Given the description of an element on the screen output the (x, y) to click on. 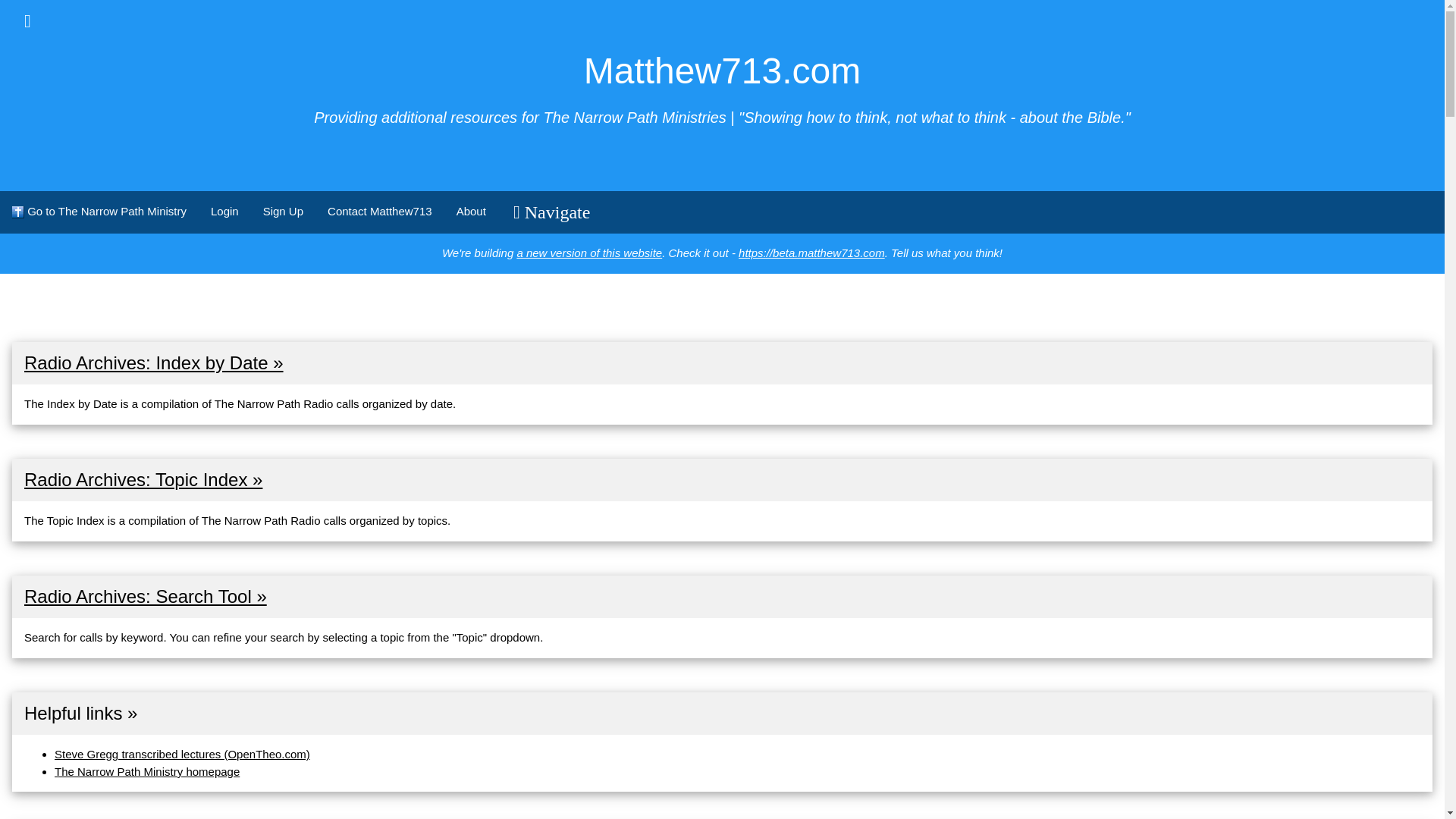
About (470, 211)
a new version of this website (589, 252)
Visit the Narrow Path Ministry homepage (147, 771)
Login (224, 211)
Sign Up (282, 211)
The Narrow Path Ministry homepage (147, 771)
Contact Matthew713 (379, 211)
Read free transcriptions of Steve Gregg's lectures (182, 753)
Go to The Narrow Path Ministry (99, 211)
